Given the description of an element on the screen output the (x, y) to click on. 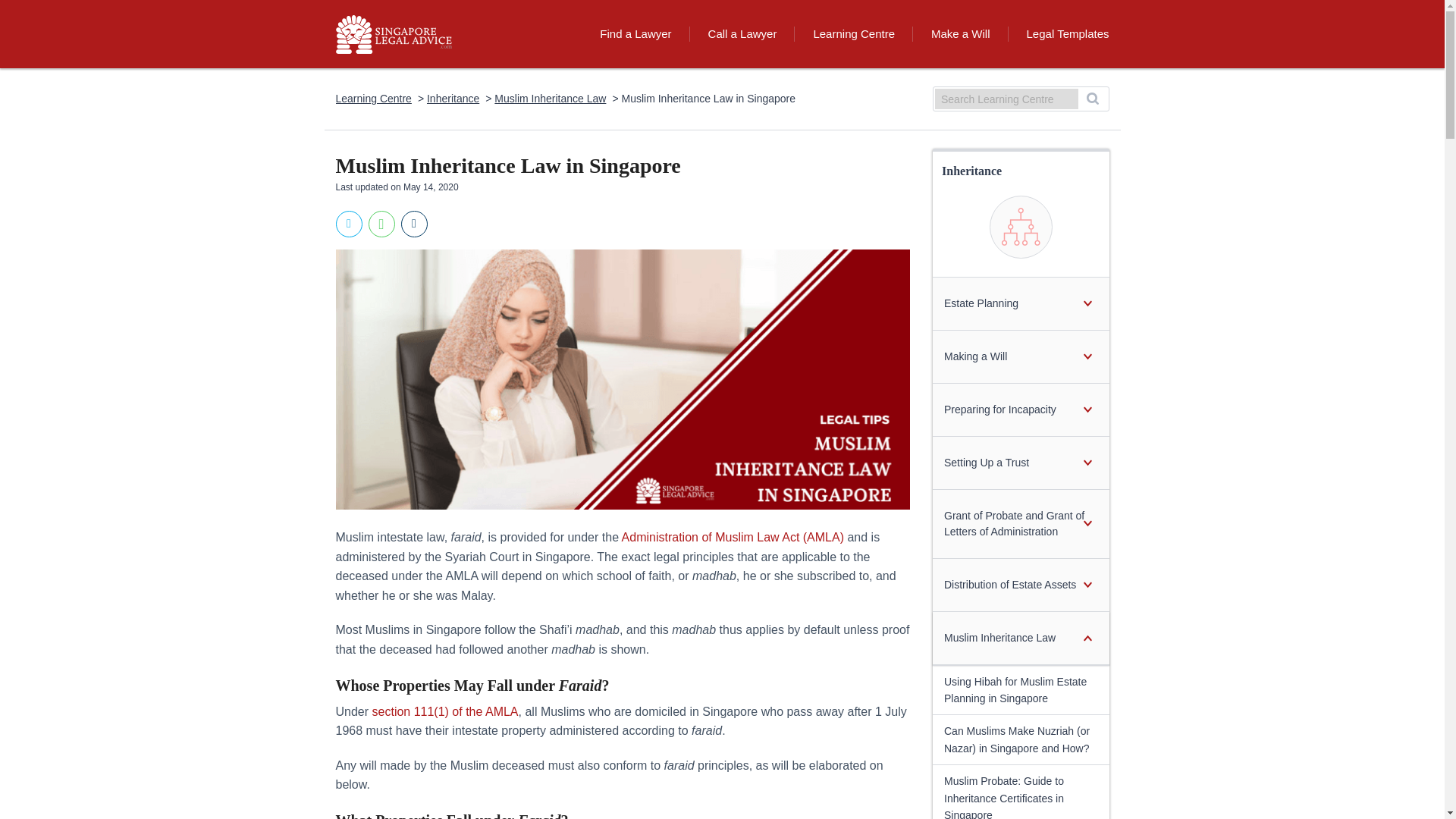
Search (1092, 98)
Search for: (1006, 98)
Call a Lawyer (742, 33)
Find a Lawyer (634, 33)
Search (1092, 98)
Make a Will (960, 33)
Learning Centre (853, 33)
Inheritance (452, 98)
Legal Templates (1059, 33)
Search (1092, 98)
Learning Centre (372, 98)
Muslim Inheritance Law (550, 98)
